Given the description of an element on the screen output the (x, y) to click on. 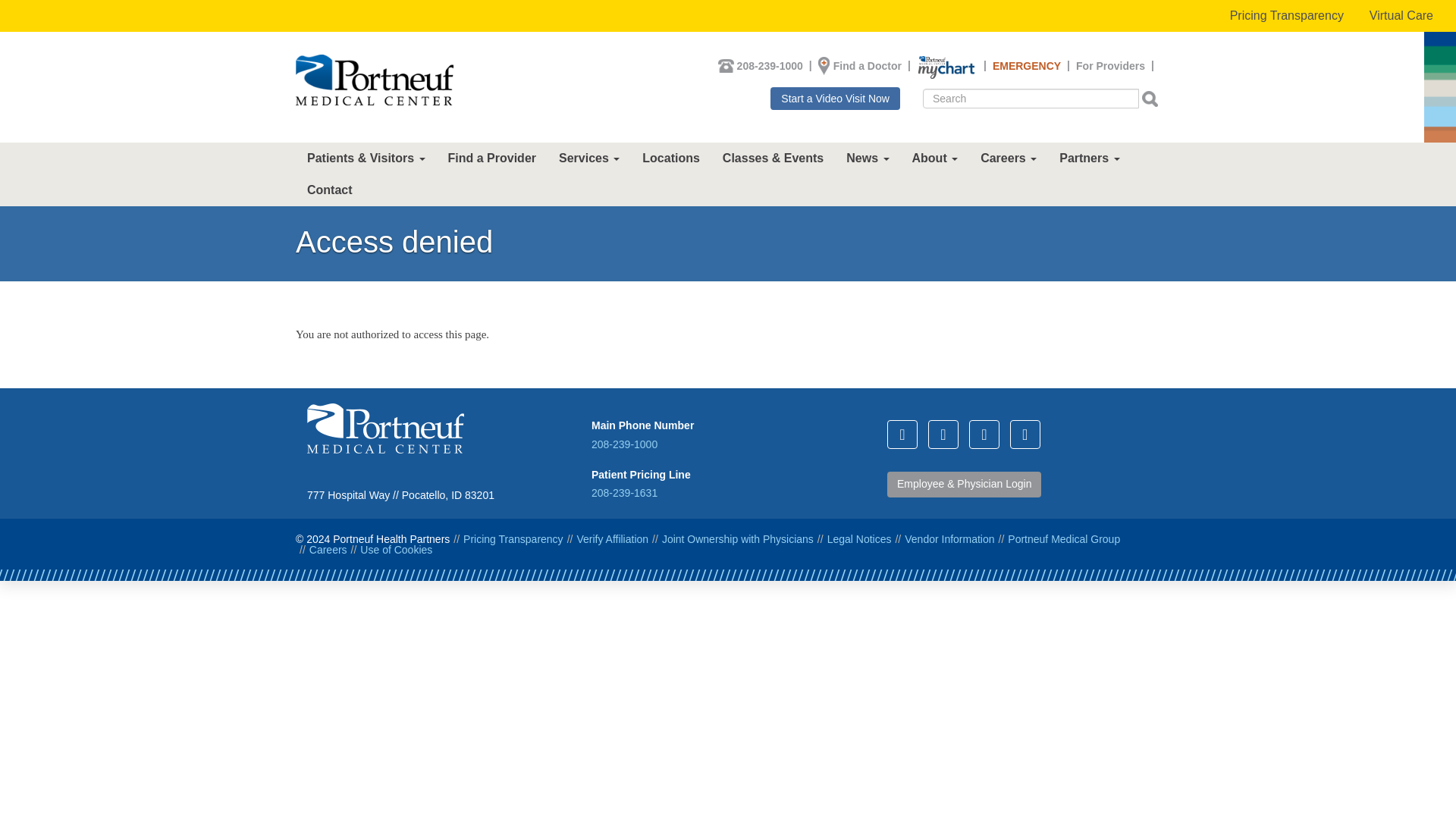
For Providers (1109, 65)
Home (373, 79)
Find a Provider (491, 158)
Search (931, 117)
Services (588, 158)
Find a Doctor (866, 65)
Virtual Care (1401, 15)
EMERGENCY (1026, 65)
Start a Video Visit Now (834, 97)
Pricing Transparency (1286, 15)
208-239-1000 (769, 65)
